Given the description of an element on the screen output the (x, y) to click on. 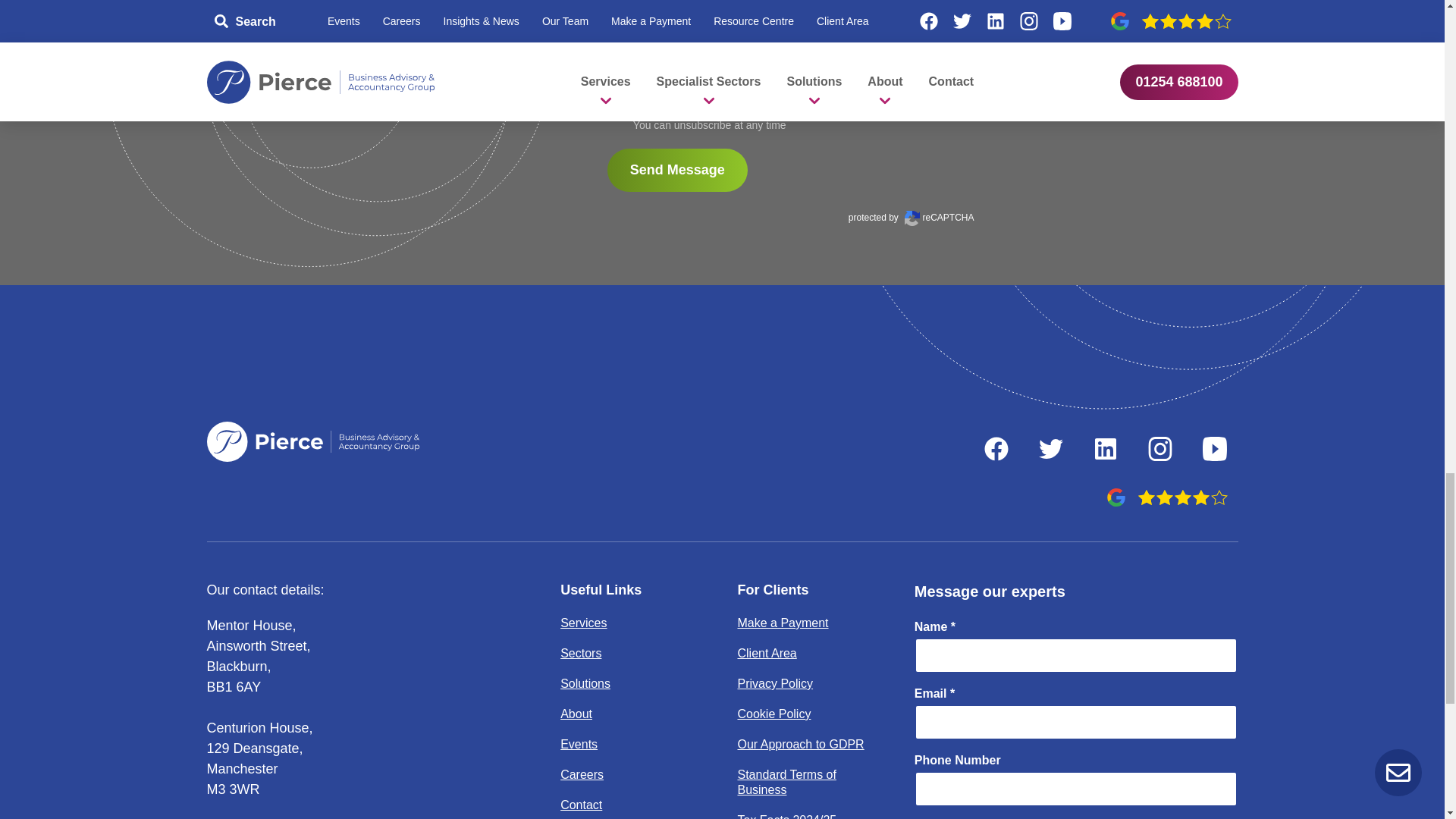
Pierce Business Advisory and Accountancy Group - Linkedin (1104, 448)
Pierce Business Advisory and Accountancy Group - Facebook (995, 448)
1 (616, 108)
Pierce Business Advisory and Accountancy Group - Youtube (1214, 448)
Pierce Business Advisory and Accountancy Group - Twitter (1050, 448)
Pierce Business Advisory and Accountancy Group - Instagram (1158, 448)
